Given the description of an element on the screen output the (x, y) to click on. 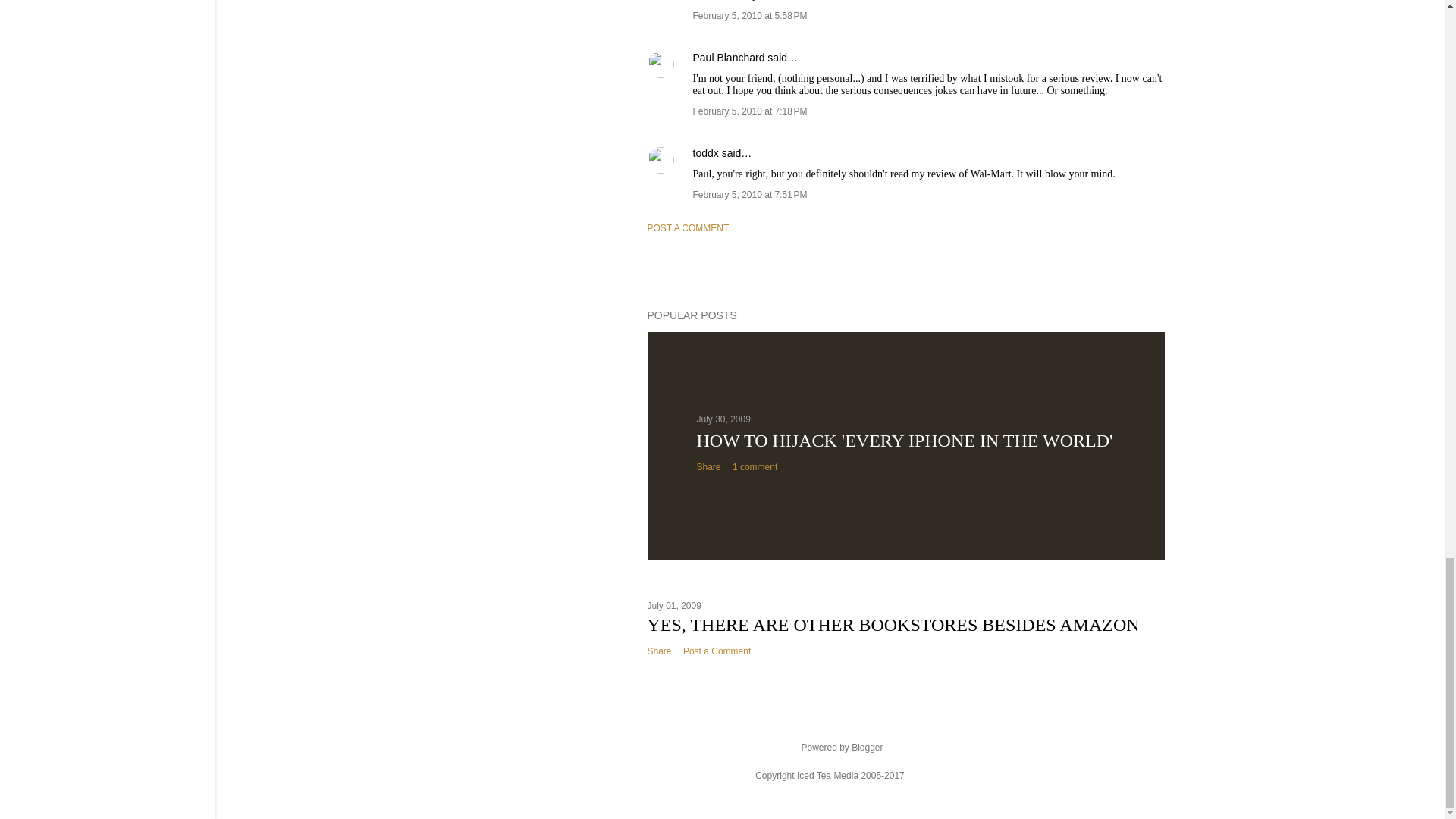
YES, THERE ARE OTHER BOOKSTORES BESIDES AMAZON (893, 624)
POST A COMMENT (688, 227)
1 comment (754, 466)
Paul Blanchard (729, 57)
toddx (706, 152)
Share (707, 466)
July 30, 2009 (722, 419)
HOW TO HIJACK 'EVERY IPHONE IN THE WORLD' (903, 440)
July 01, 2009 (674, 605)
